Given the description of an element on the screen output the (x, y) to click on. 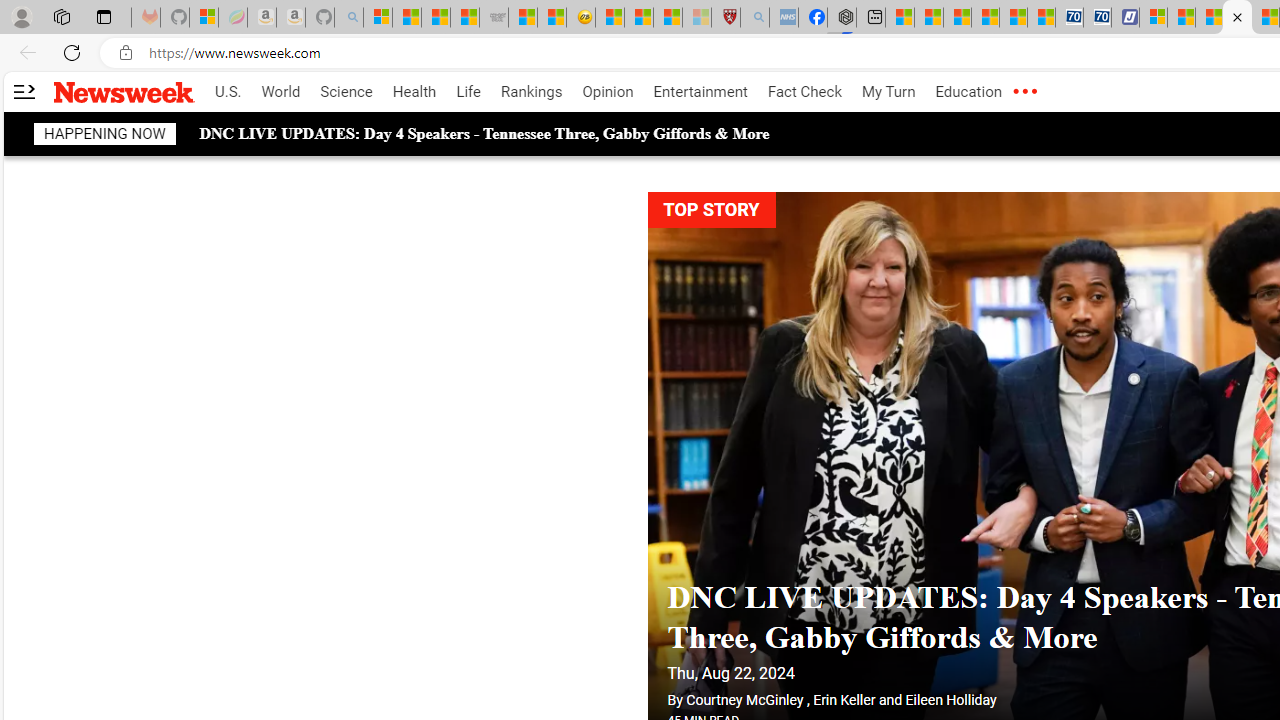
AutomationID: moreOptions (1023, 92)
Cheap Hotels - Save70.com (1097, 17)
MSNBC - MSN (436, 17)
12 Popular Science Lies that Must be Corrected - Sleeping (696, 17)
Health (413, 92)
Science (345, 92)
Opinion (607, 92)
By Courtney McGinley (734, 700)
Entertainment (699, 92)
Rankings (532, 92)
